Given the description of an element on the screen output the (x, y) to click on. 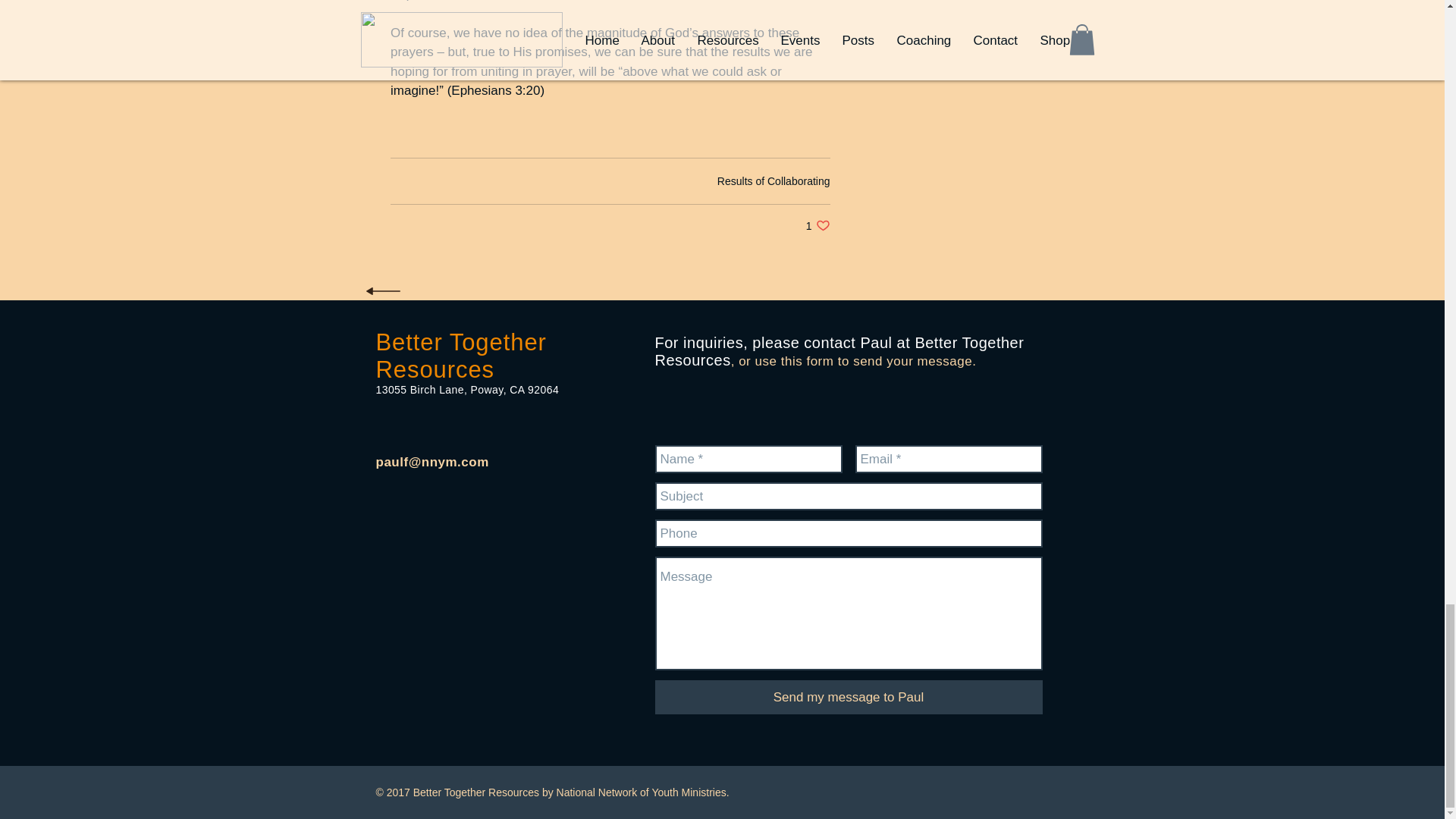
Results of Collaborating (773, 180)
Send my message to Paul (817, 225)
